Given the description of an element on the screen output the (x, y) to click on. 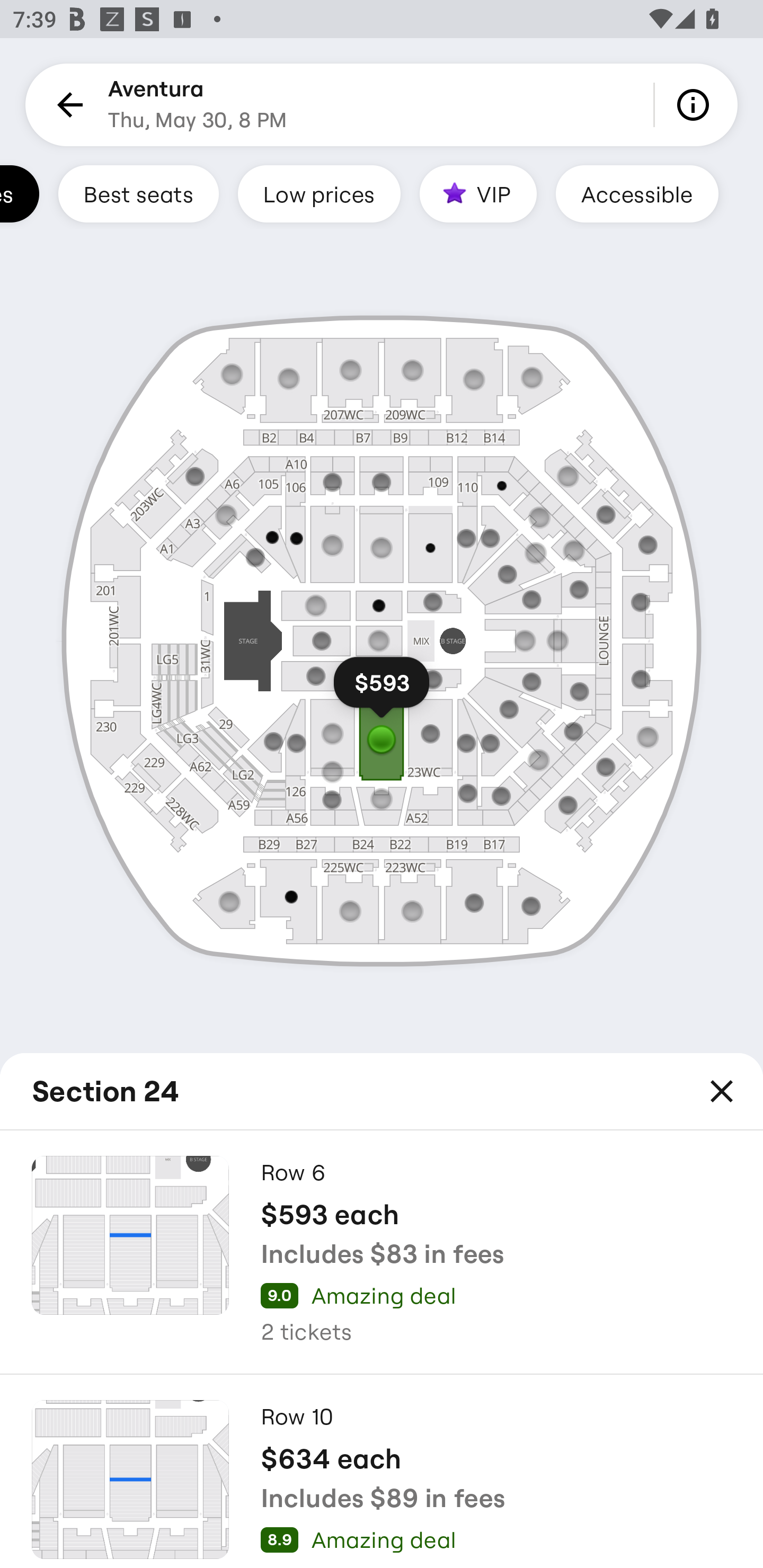
Back (66, 104)
Aventura Thu, May 30, 8 PM (197, 104)
Info (695, 104)
Best seats (137, 193)
Low prices (319, 193)
VIP (477, 193)
Accessible (636, 193)
$593 (381, 690)
Close (721, 1090)
